Given the description of an element on the screen output the (x, y) to click on. 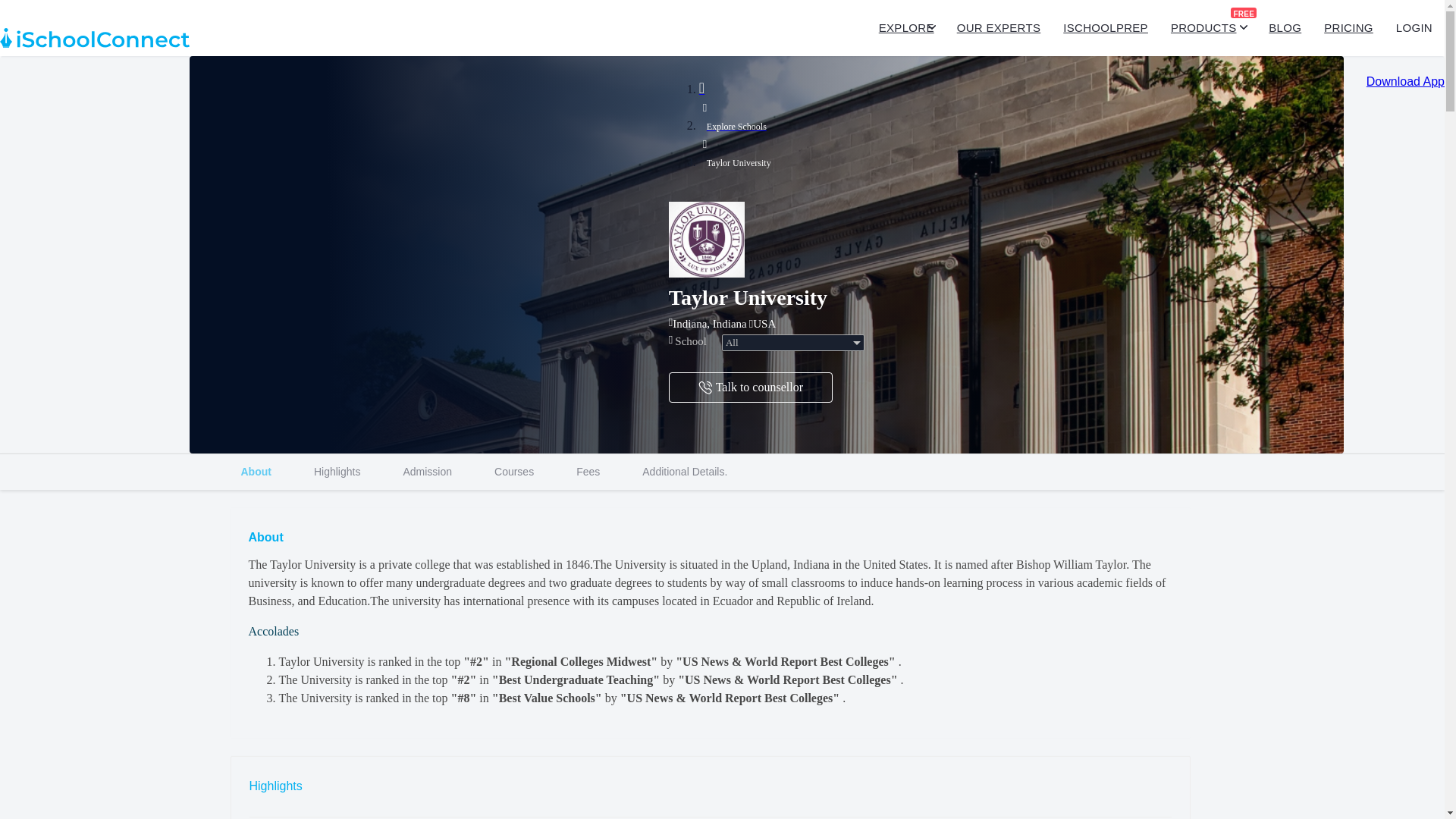
EXPLORE (722, 471)
iSchoolConnect (906, 28)
